Given the description of an element on the screen output the (x, y) to click on. 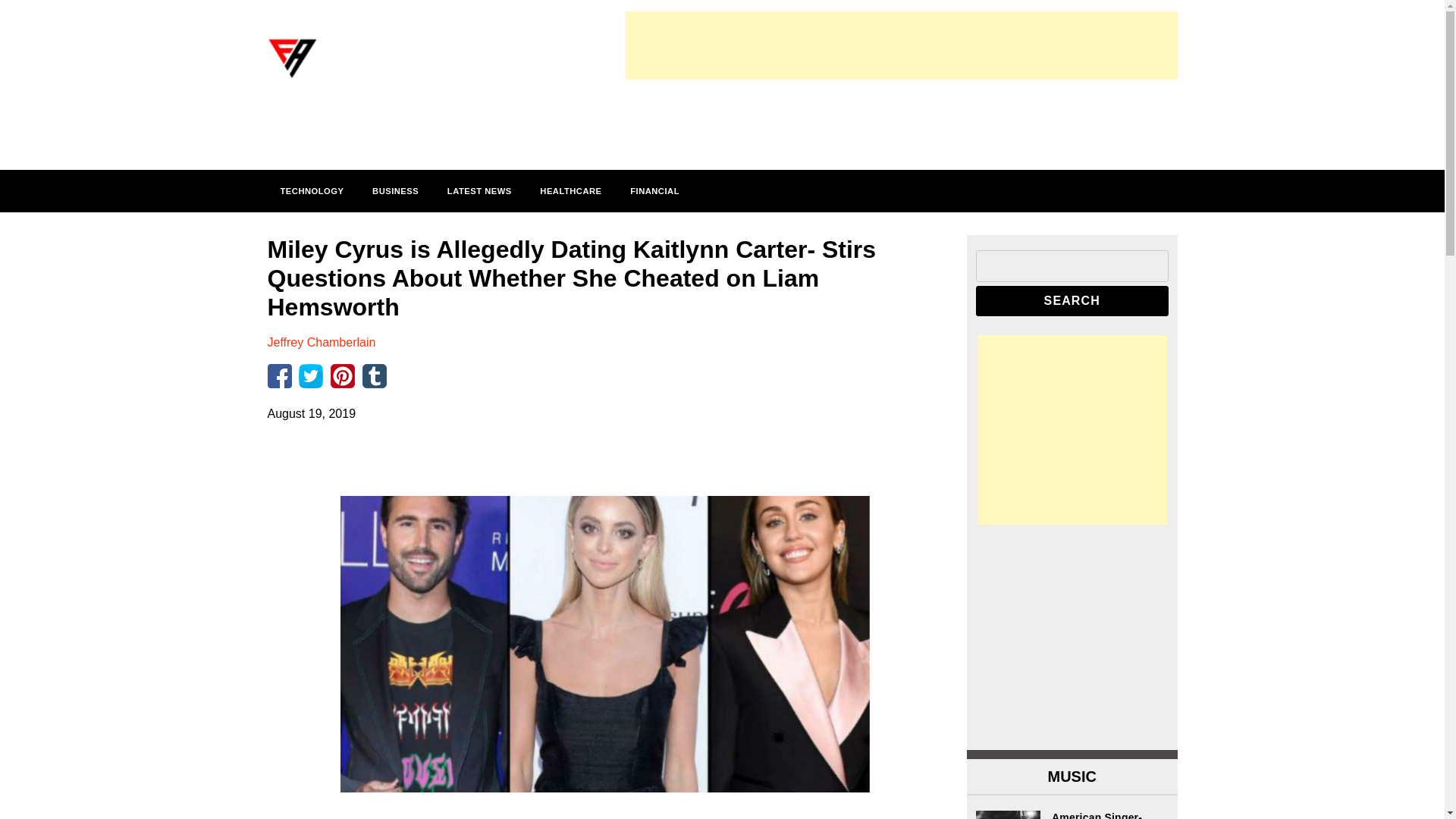
HEALTHCARE (570, 190)
TECHNOLOGY (311, 190)
BUSINESS (395, 190)
FINANCIAL (654, 190)
Search (1072, 300)
Search (1072, 300)
Fast News Media (366, 98)
Advertisement (900, 119)
Jeffrey Chamberlain (320, 341)
Advertisement (1071, 635)
LATEST NEWS (478, 190)
